Given the description of an element on the screen output the (x, y) to click on. 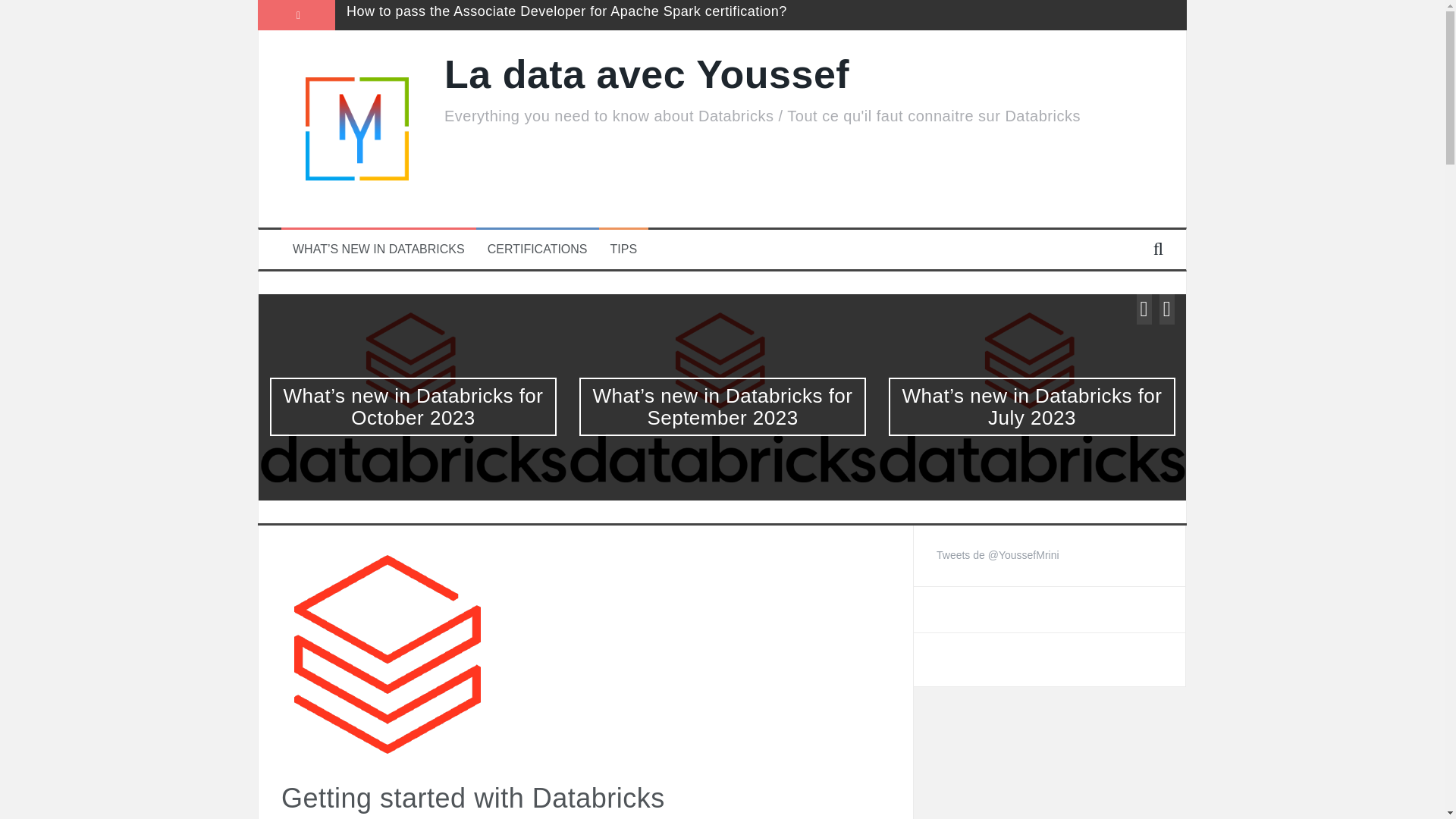
TIPS (623, 249)
CERTIFICATIONS (537, 249)
La data avec Youssef (646, 74)
